Given the description of an element on the screen output the (x, y) to click on. 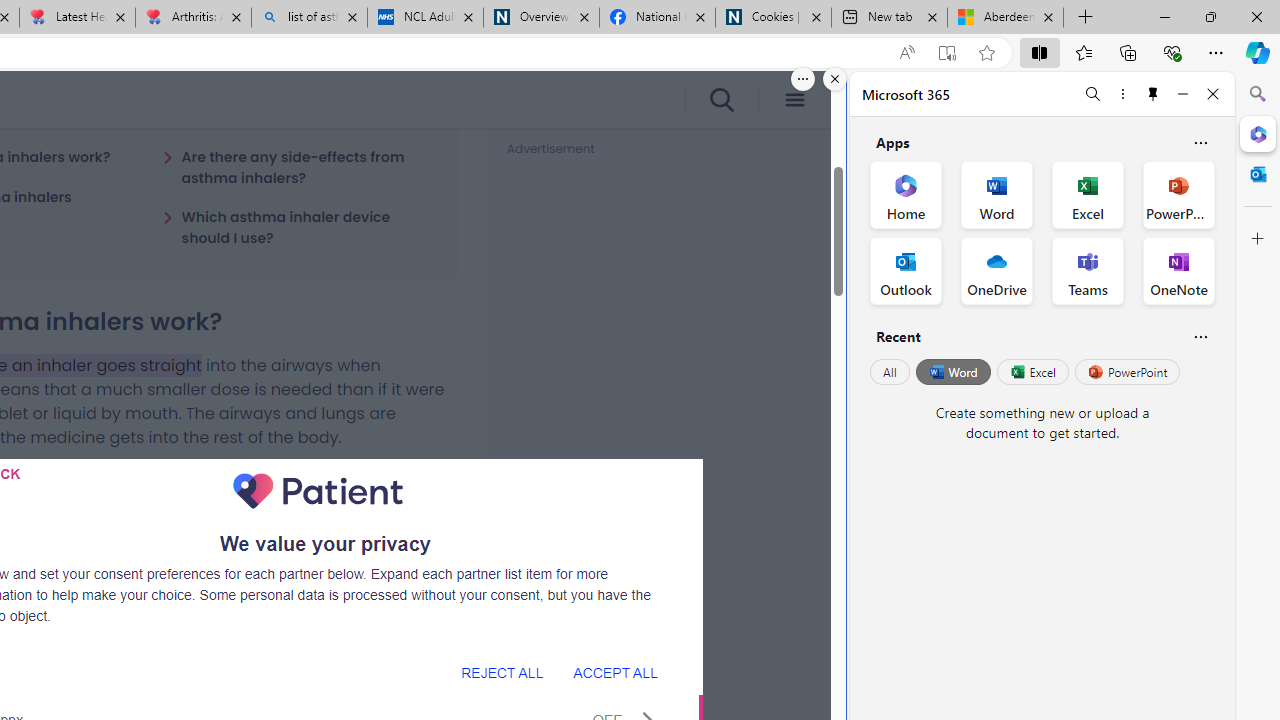
Which asthma inhaler device should I use? (298, 227)
PowerPoint Office App (1178, 194)
Teams Office App (1087, 270)
